Given the description of an element on the screen output the (x, y) to click on. 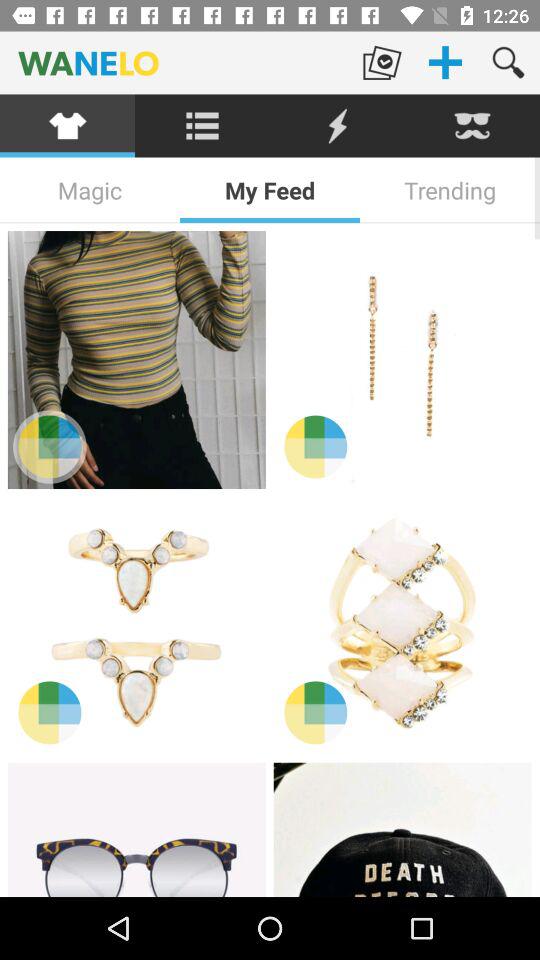
view image (136, 625)
